Given the description of an element on the screen output the (x, y) to click on. 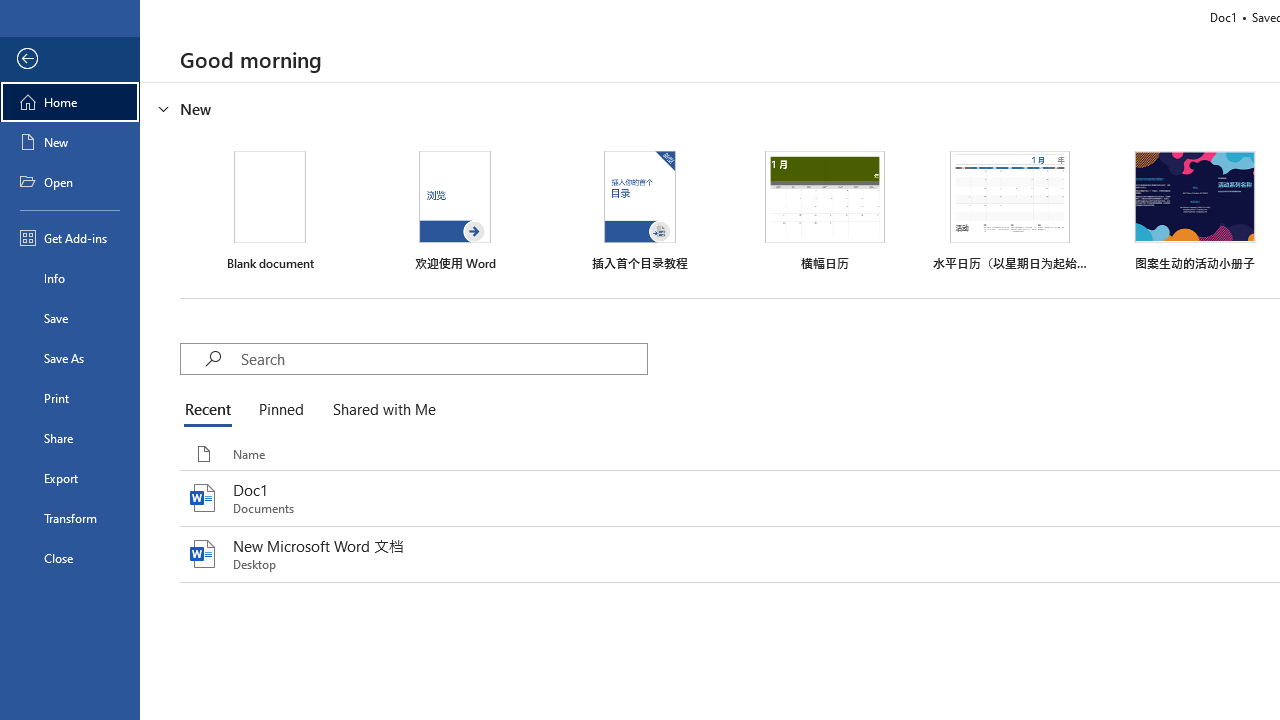
Save As (69, 357)
Get Add-ins (69, 237)
Recent (212, 410)
Hide or show region (164, 108)
